Given the description of an element on the screen output the (x, y) to click on. 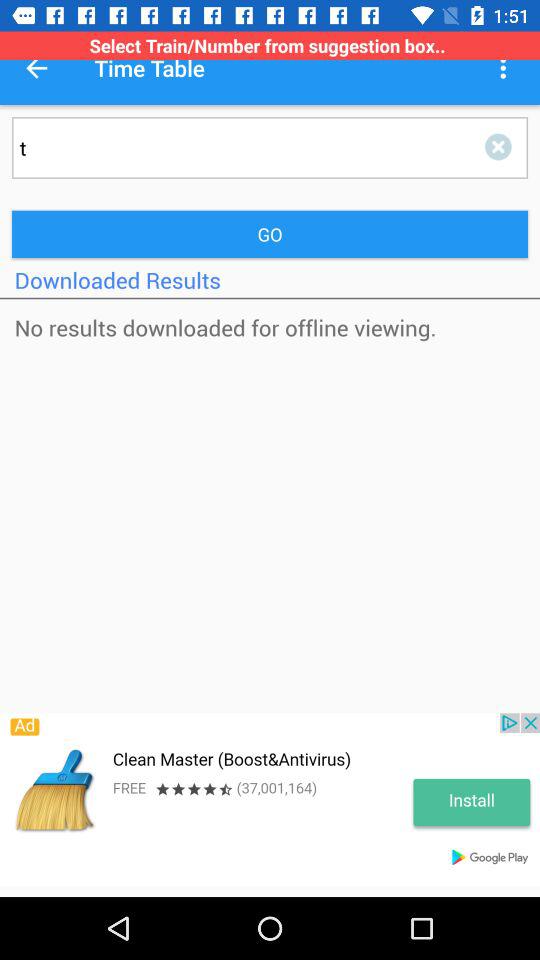
close option (502, 147)
